Given the description of an element on the screen output the (x, y) to click on. 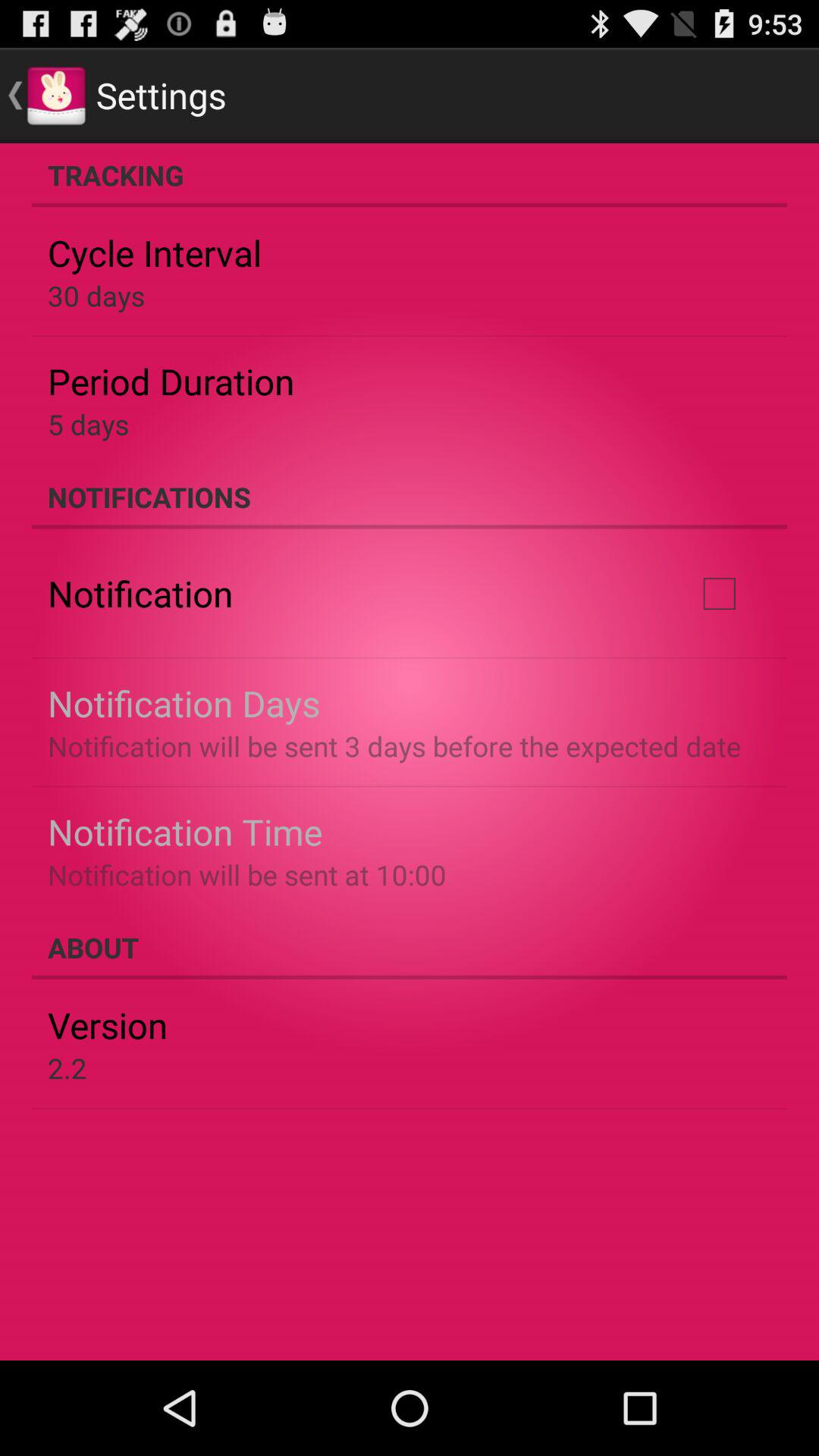
turn off app below notifications (719, 593)
